Given the description of an element on the screen output the (x, y) to click on. 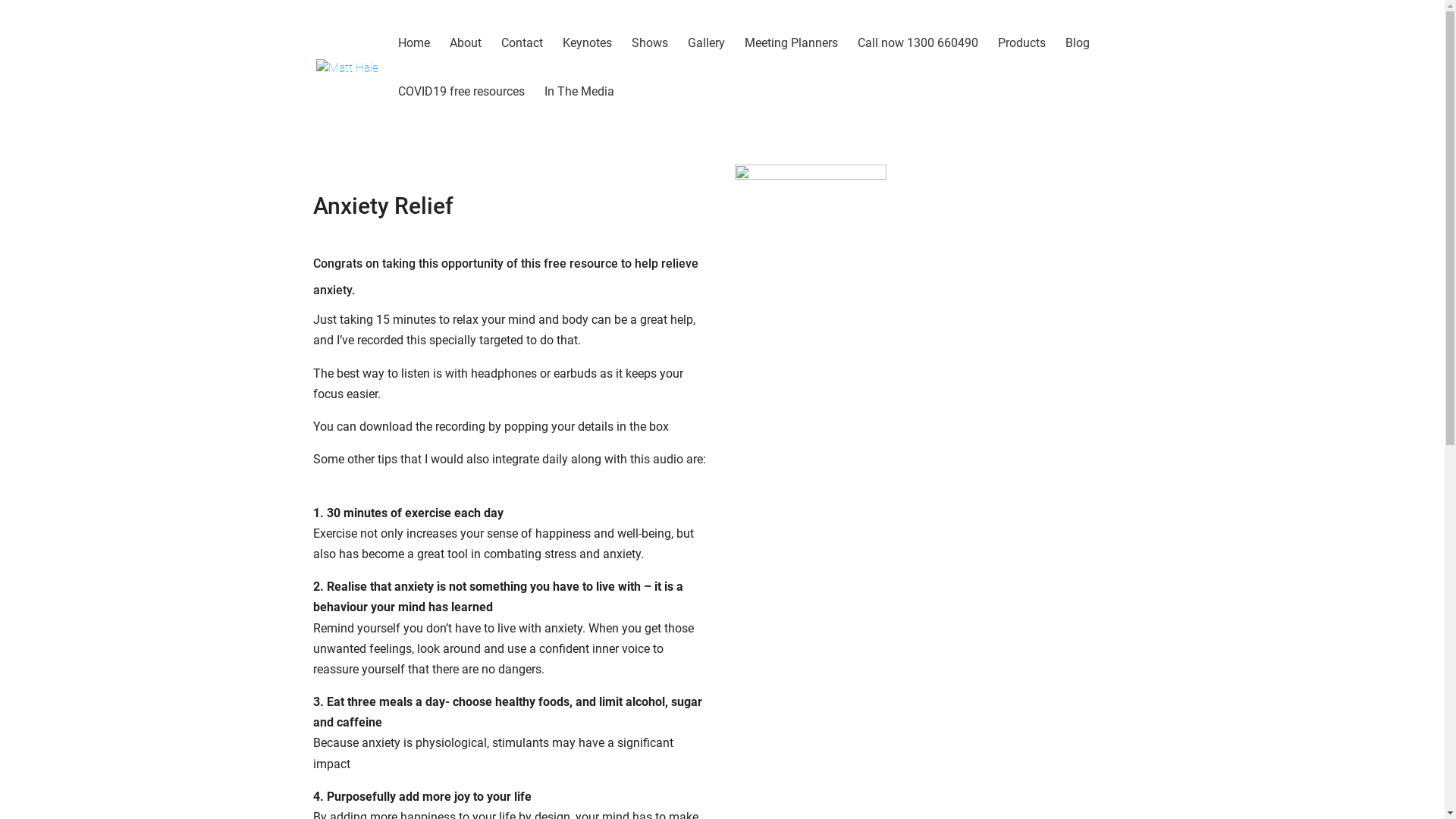
Blog Element type: text (1076, 61)
Meeting Planners Element type: text (790, 61)
In The Media Element type: text (579, 110)
Products Element type: text (1021, 61)
Gallery Element type: text (705, 61)
About Element type: text (464, 61)
COVID19 free resources Element type: text (460, 110)
Call now 1300 660490 Element type: text (916, 61)
Shows Element type: text (648, 61)
Contact Element type: text (521, 61)
Home Element type: text (413, 61)
Keynotes Element type: text (586, 61)
